Given the description of an element on the screen output the (x, y) to click on. 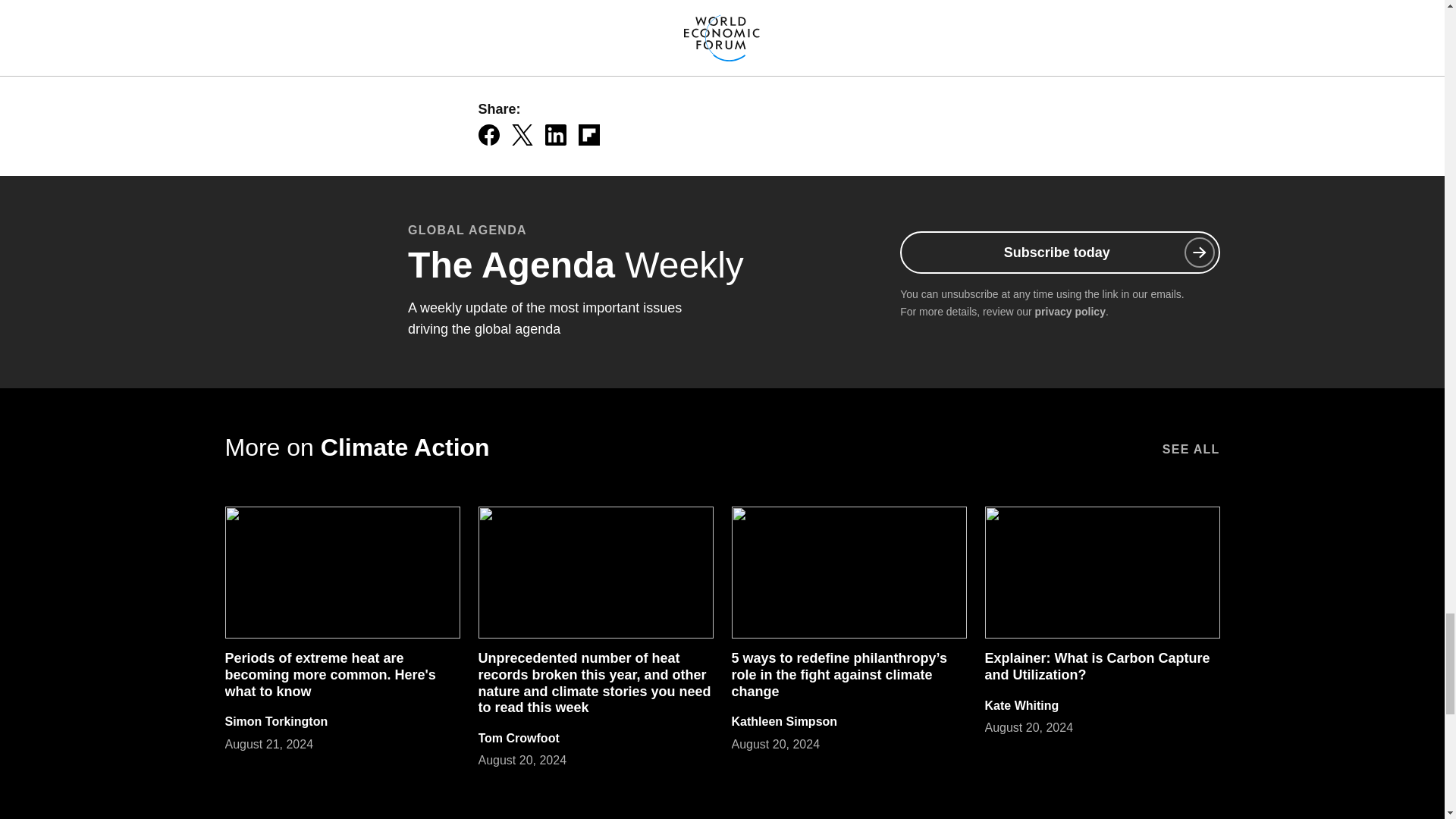
SEE ALL (1190, 447)
Climate Action (531, 13)
Subscribe today (1059, 251)
Health and Healthcare Systems (695, 13)
privacy policy (1070, 311)
Explainer: What is Carbon Capture and Utilization? (1096, 666)
